Given the description of an element on the screen output the (x, y) to click on. 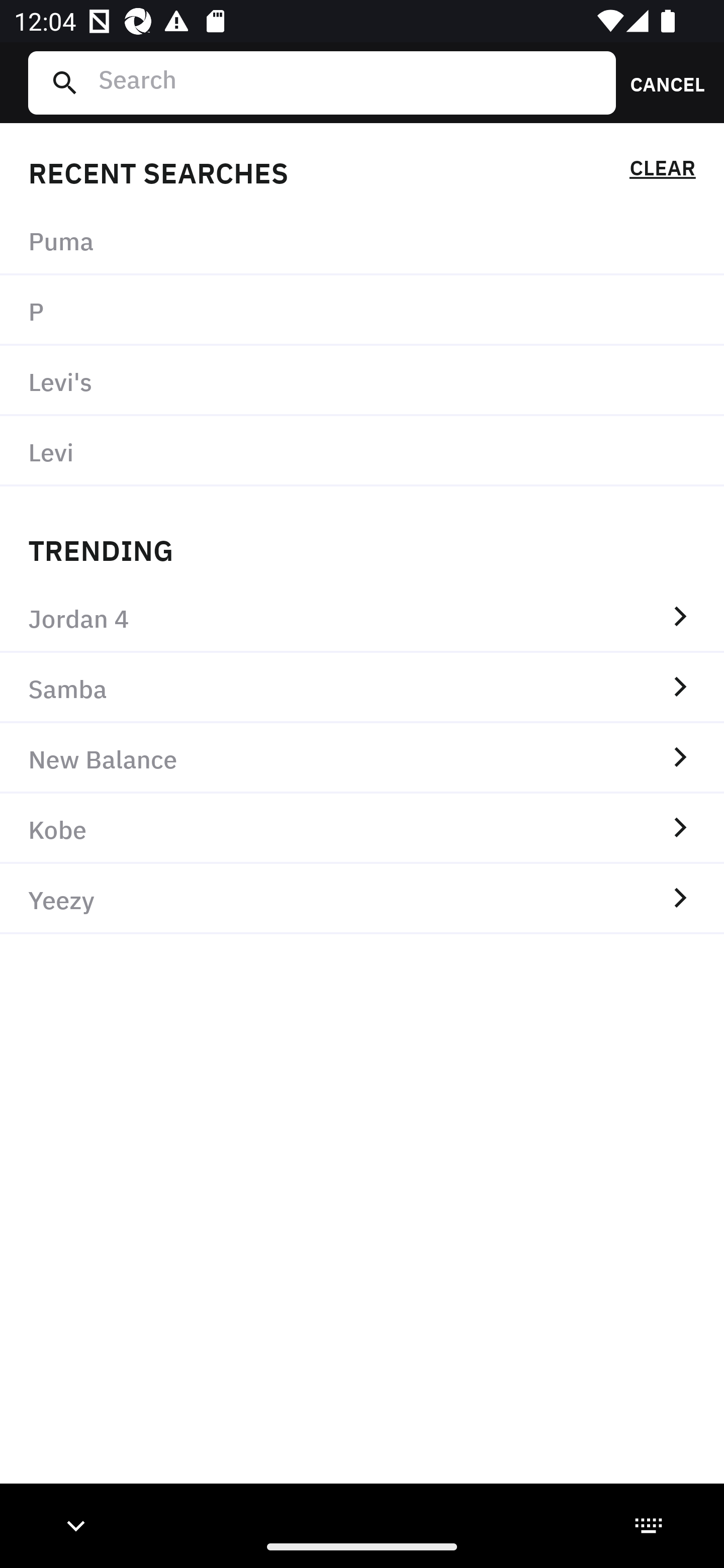
CANCEL (660, 82)
Search (349, 82)
CLEAR (662, 170)
Puma (362, 240)
P (362, 310)
Levi's (362, 380)
Levi (362, 450)
Jordan 4  (362, 616)
Samba  (362, 687)
New Balance  (362, 757)
Kobe  (362, 828)
Yeezy  (362, 898)
